Given the description of an element on the screen output the (x, y) to click on. 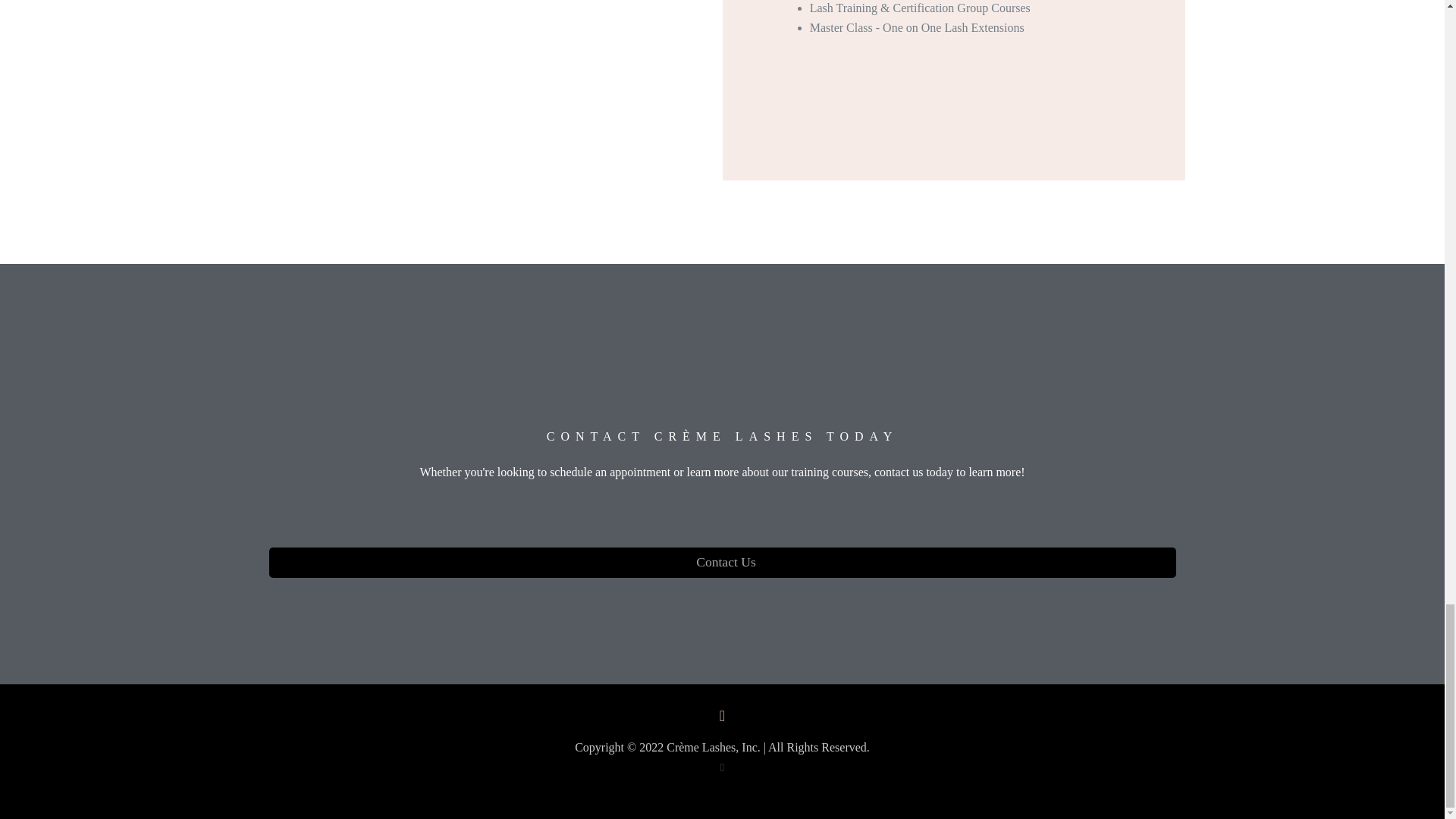
Contact Us (720, 562)
